Given the description of an element on the screen output the (x, y) to click on. 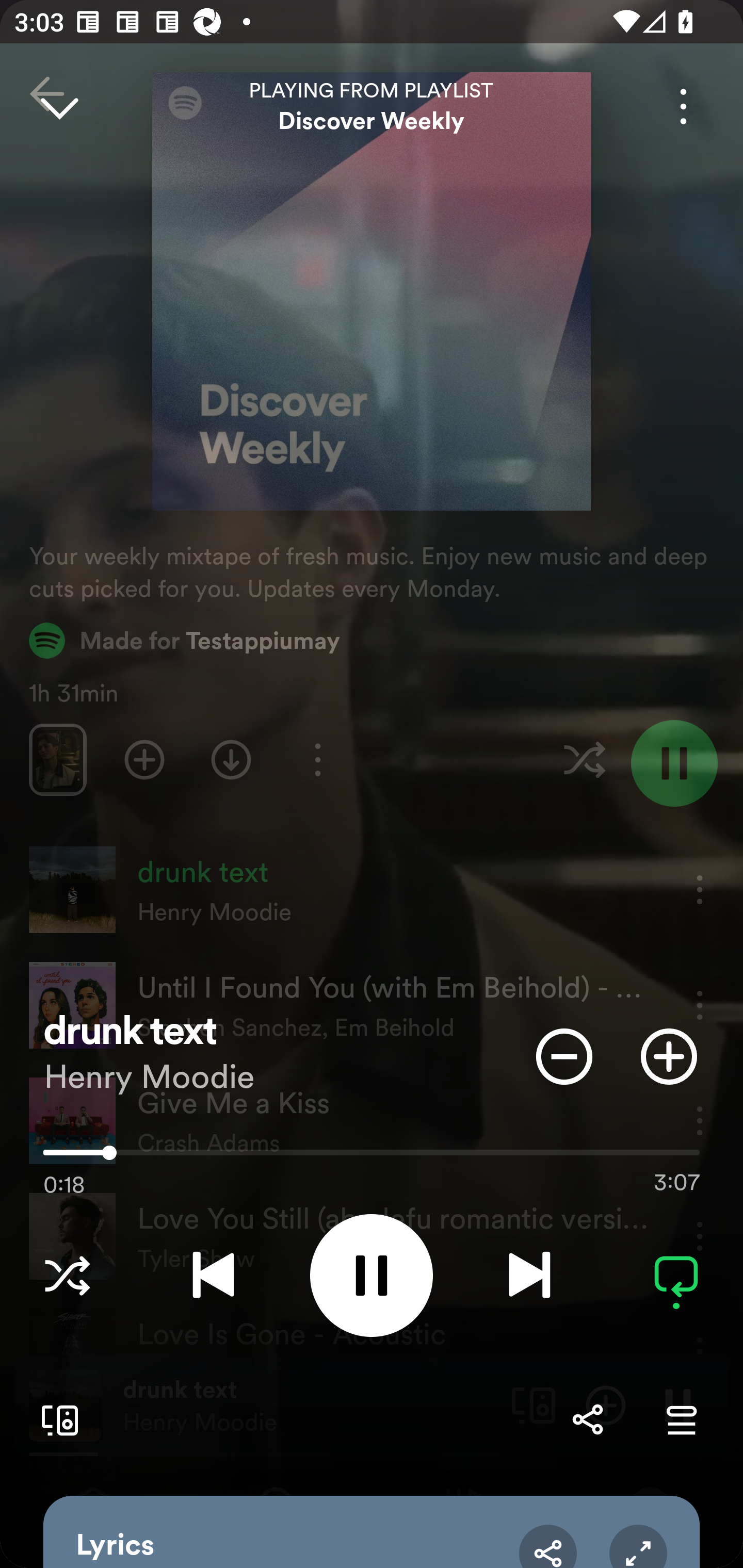
Close (59, 106)
More options for song drunk text (683, 106)
PLAYING FROM PLAYLIST Discover Weekly (371, 106)
Don't play this (564, 1056)
Add item (669, 1056)
0:18 3:07 18328.0 Use volume keys to adjust (371, 1157)
Pause (371, 1275)
Previous (212, 1275)
Next (529, 1275)
Shuffle tracks (66, 1275)
Repeat (676, 1275)
Share (587, 1419)
Go to Queue (681, 1419)
Connect to a device. Opens the devices menu (55, 1419)
Lyrics Share Expand (371, 1531)
Share (547, 1546)
Expand (638, 1546)
